Given the description of an element on the screen output the (x, y) to click on. 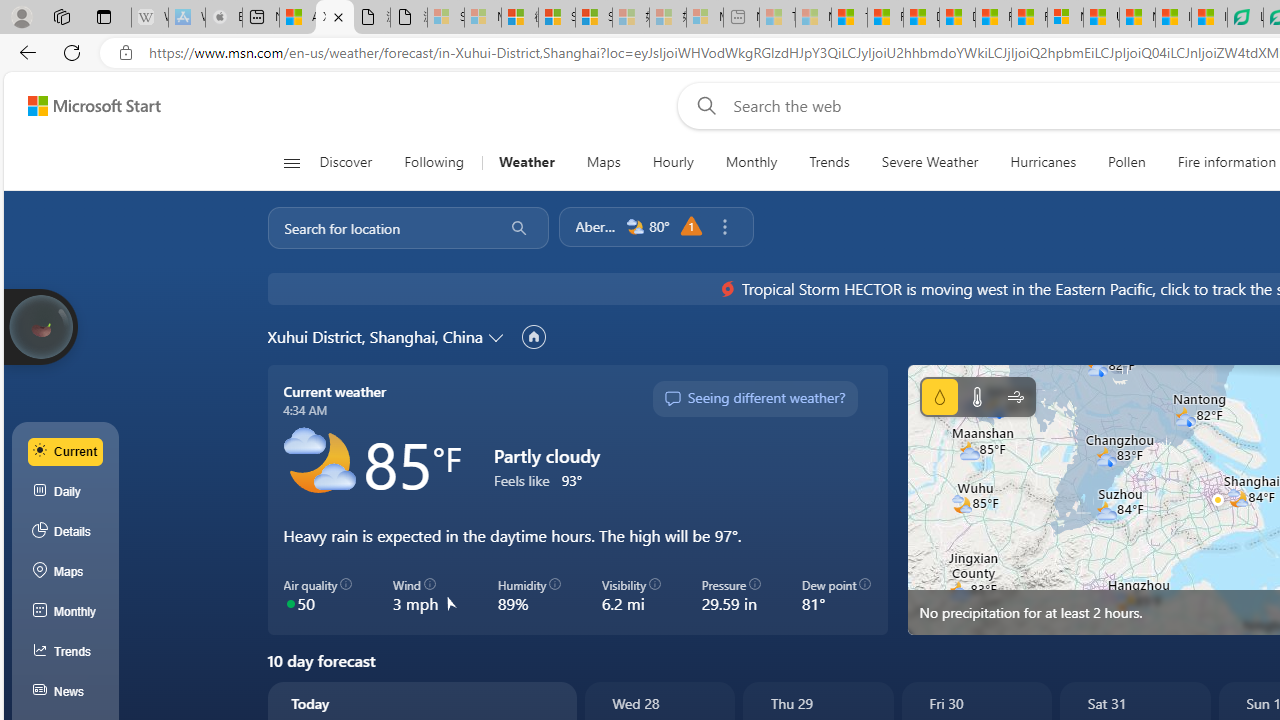
Air quality 50 (317, 595)
Aberdeen (596, 226)
Current (65, 451)
Wind (1015, 396)
Microsoft Services Agreement - Sleeping (482, 17)
Monthly (751, 162)
Pressure 29.59 in (731, 595)
Wikipedia - Sleeping (149, 17)
Class: button-glyph (290, 162)
